Given the description of an element on the screen output the (x, y) to click on. 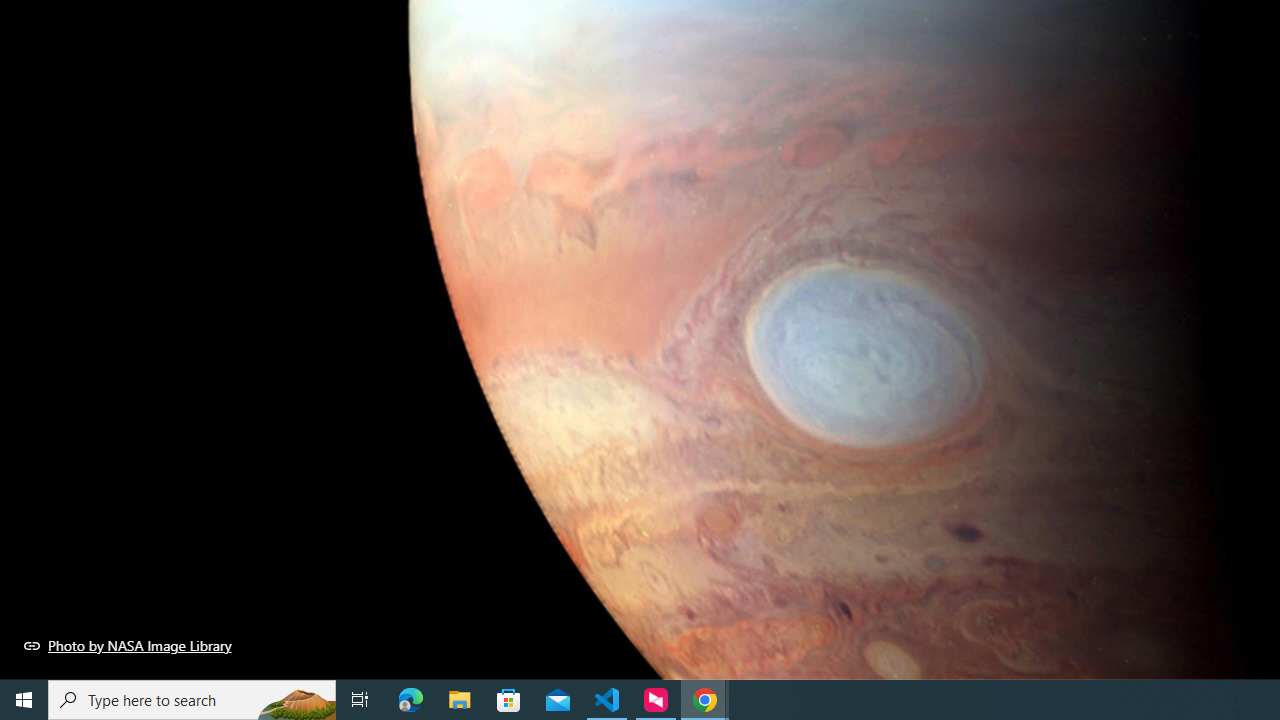
Photo by NASA Image Library (127, 645)
